Given the description of an element on the screen output the (x, y) to click on. 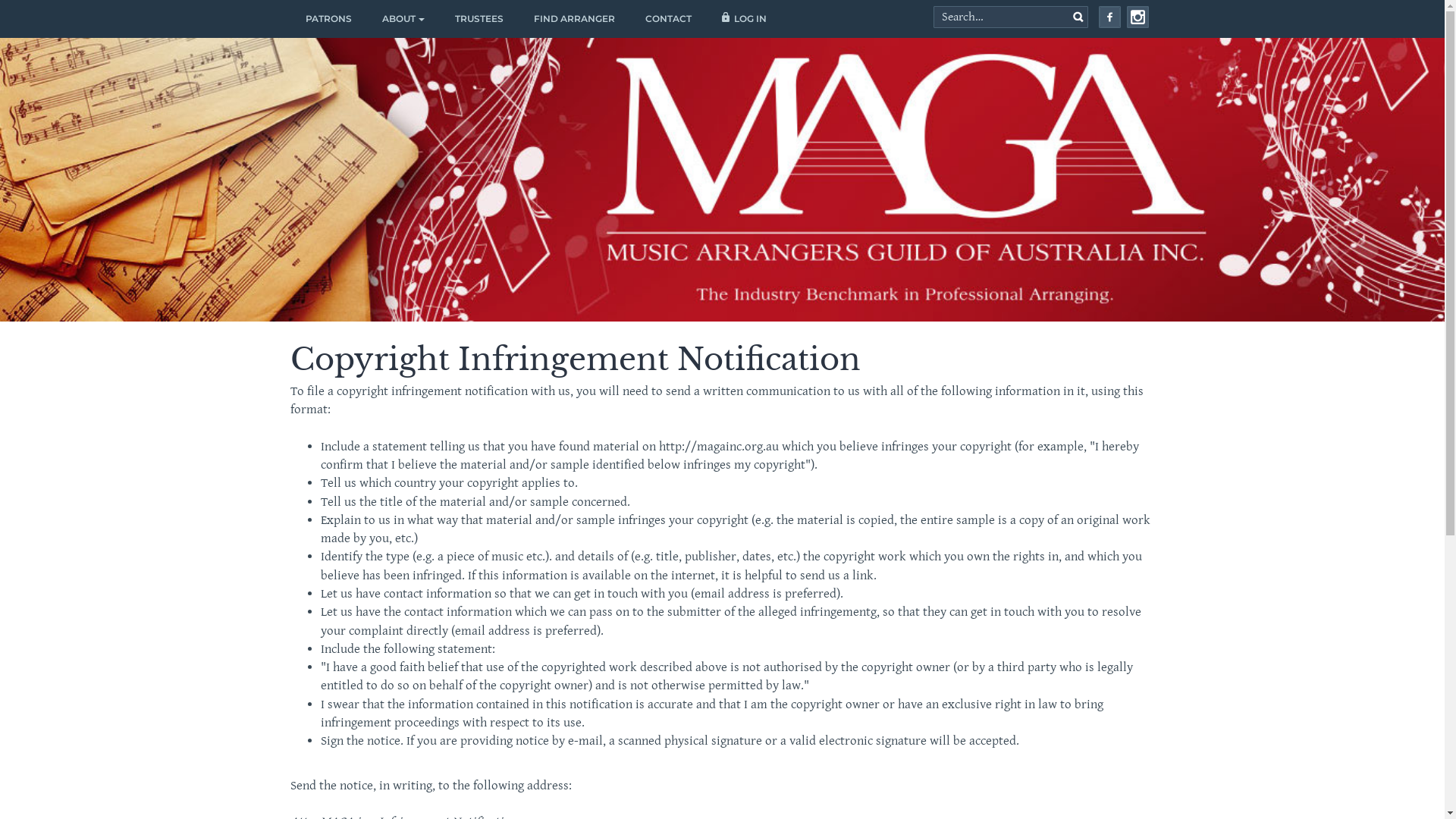
ABOUT Element type: text (403, 18)
TRUSTEES Element type: text (478, 18)
FIND ARRANGER Element type: text (574, 18)
fb-icon Element type: text (1109, 23)
CONTACT Element type: text (667, 18)
PATRONS Element type: text (327, 18)
